Given the description of an element on the screen output the (x, y) to click on. 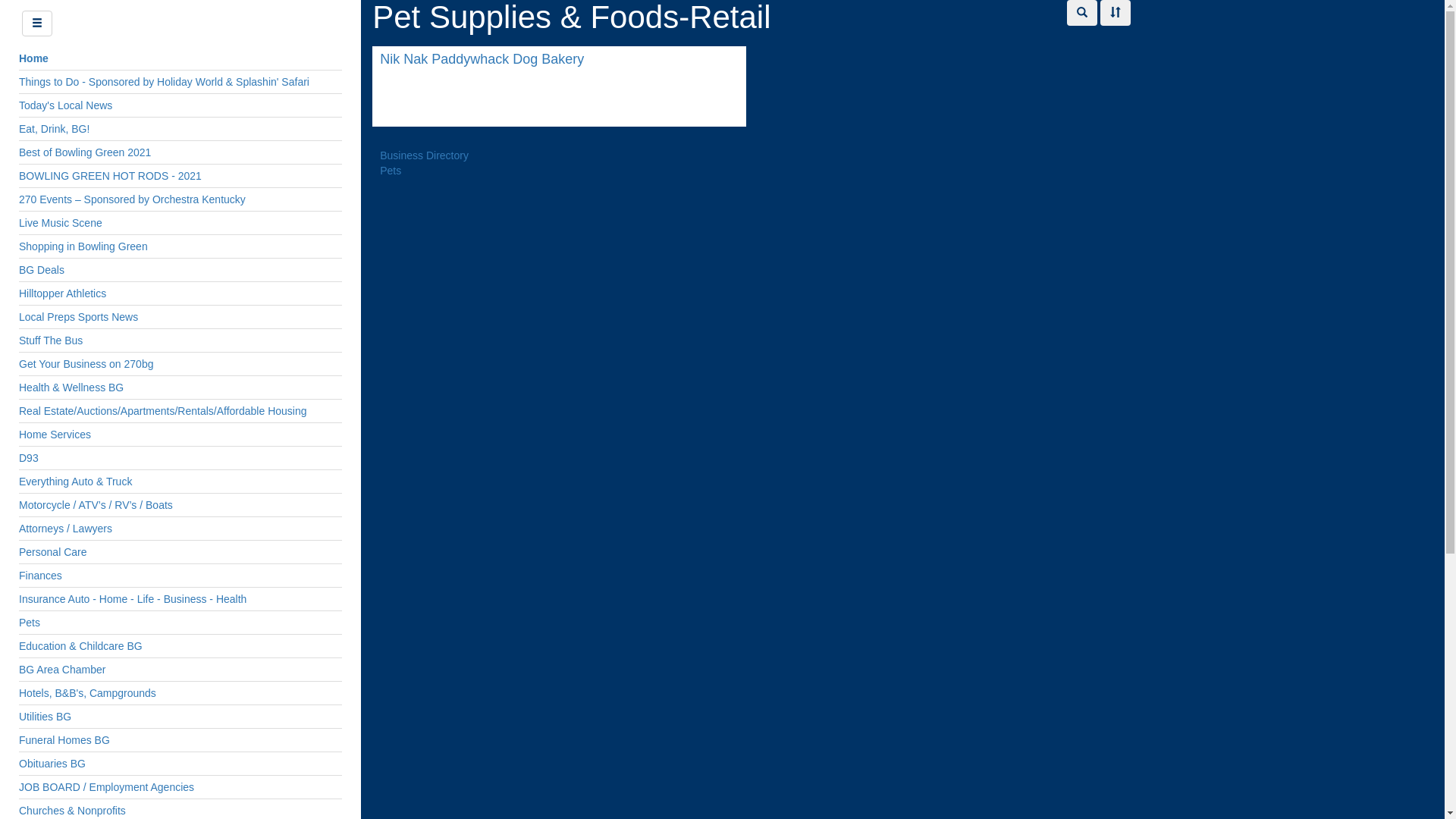
Things to Do - Sponsored by Holiday World & Splashin' Safari Element type: text (180, 81)
Funeral Homes BG Element type: text (180, 739)
Home Element type: text (33, 58)
Finances Element type: text (180, 575)
Live Music Scene Element type: text (180, 222)
Obituaries BG Element type: text (180, 763)
Get Your Business on 270bg Element type: text (180, 363)
Hotels, B&B's, Campgrounds Element type: text (180, 692)
Insurance Auto - Home - Life - Business - Health Element type: text (180, 598)
Business Directory Element type: text (423, 155)
Best of Bowling Green 2021 Element type: text (180, 152)
Utilities BG Element type: text (180, 716)
Pets Element type: text (180, 622)
Local Preps Sports News Element type: text (180, 316)
Everything Auto & Truck Element type: text (180, 481)
Real Estate/Auctions/Apartments/Rentals/Affordable Housing Element type: text (180, 410)
JOB BOARD / Employment Agencies Element type: text (180, 786)
Attorneys / Lawyers Element type: text (180, 528)
D93 Element type: text (180, 457)
Health & Wellness BG Element type: text (180, 387)
BG Area Chamber Element type: text (180, 669)
Skip to main content Element type: text (48, 0)
Stuff The Bus Element type: text (180, 340)
Pets Element type: text (390, 170)
Nik Nak Paddywhack Dog Bakery Element type: text (558, 59)
BOWLING GREEN HOT RODS - 2021 Element type: text (180, 175)
BG Deals Element type: text (180, 269)
Personal Care Element type: text (180, 551)
Shopping in Bowling Green Element type: text (180, 246)
Eat, Drink, BG! Element type: text (180, 128)
Churches & Nonprofits Element type: text (180, 810)
Home Services Element type: text (180, 434)
Education & Childcare BG Element type: text (180, 645)
Today's Local News Element type: text (180, 104)
Hilltopper Athletics Element type: text (180, 293)
